Given the description of an element on the screen output the (x, y) to click on. 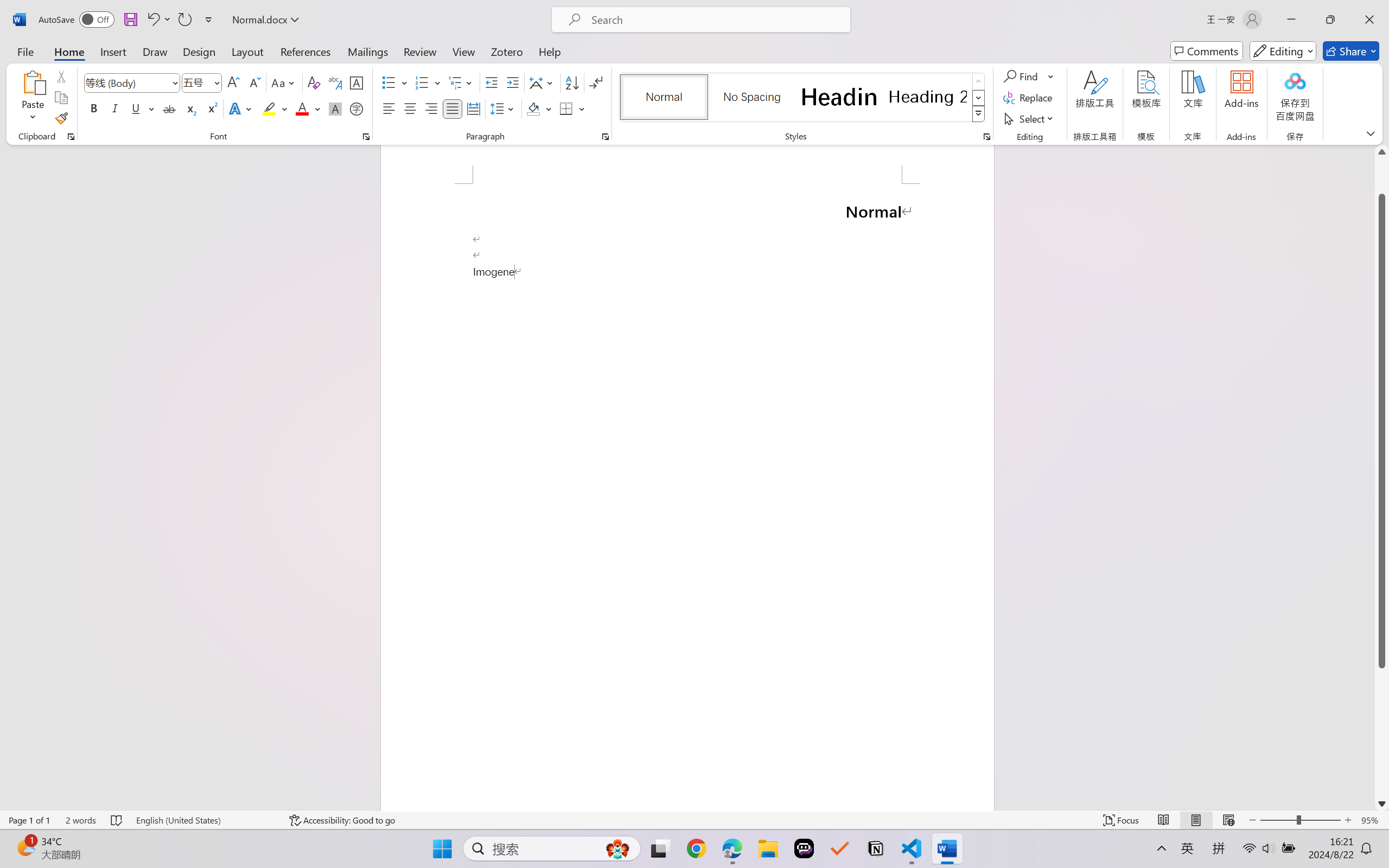
Sort... (571, 82)
Line down (1382, 803)
AutomationID: QuickStylesGallery (802, 97)
Bold (94, 108)
Mode (1283, 50)
Row up (978, 81)
Copy (60, 97)
Phonetic Guide... (334, 82)
